Given the description of an element on the screen output the (x, y) to click on. 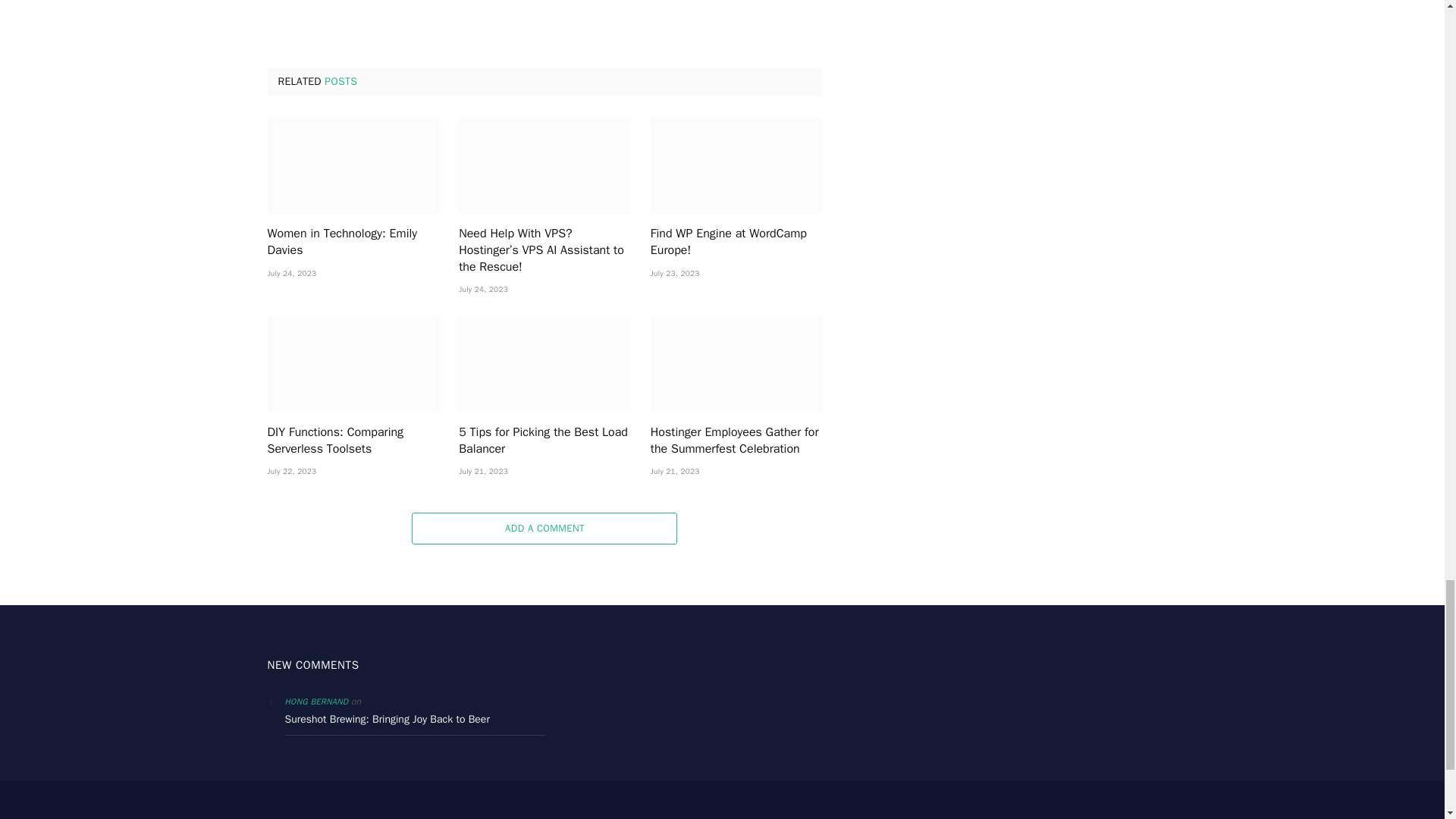
Women in Technology: Emily Davies (352, 165)
